Given the description of an element on the screen output the (x, y) to click on. 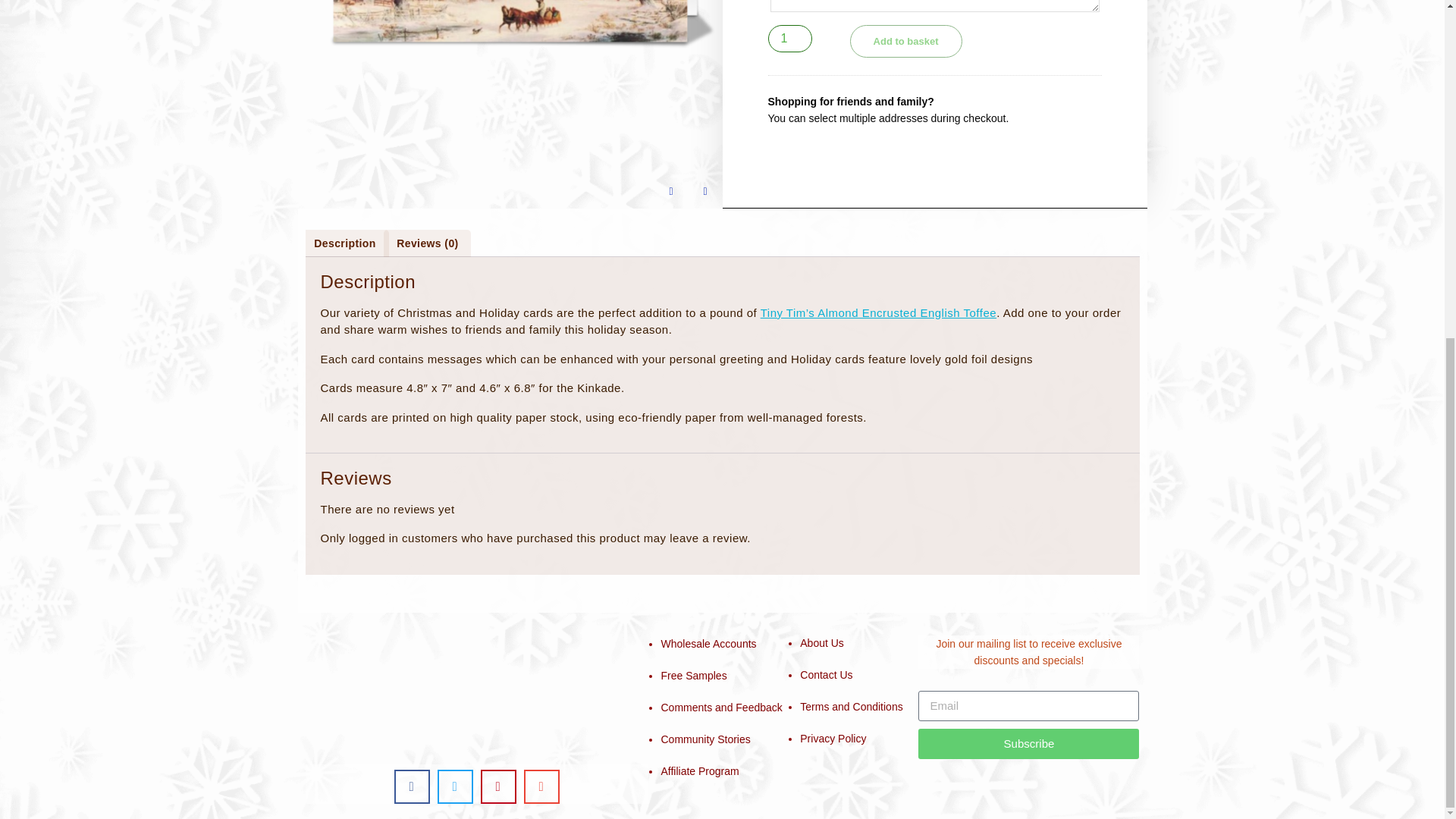
Comments and Feedback (721, 707)
tinylogo.jpg (476, 692)
Contact Us (825, 674)
1 (788, 38)
Free Samples (693, 675)
About Us (821, 643)
Add to basket (906, 41)
Terms and Conditions (850, 706)
Description (344, 243)
Wholesale Accounts (708, 644)
Subscribe (1028, 743)
Privacy Policy (832, 738)
Community Stories  (706, 739)
Winter Wonderland (509, 65)
Affiliate Program (699, 770)
